Given the description of an element on the screen output the (x, y) to click on. 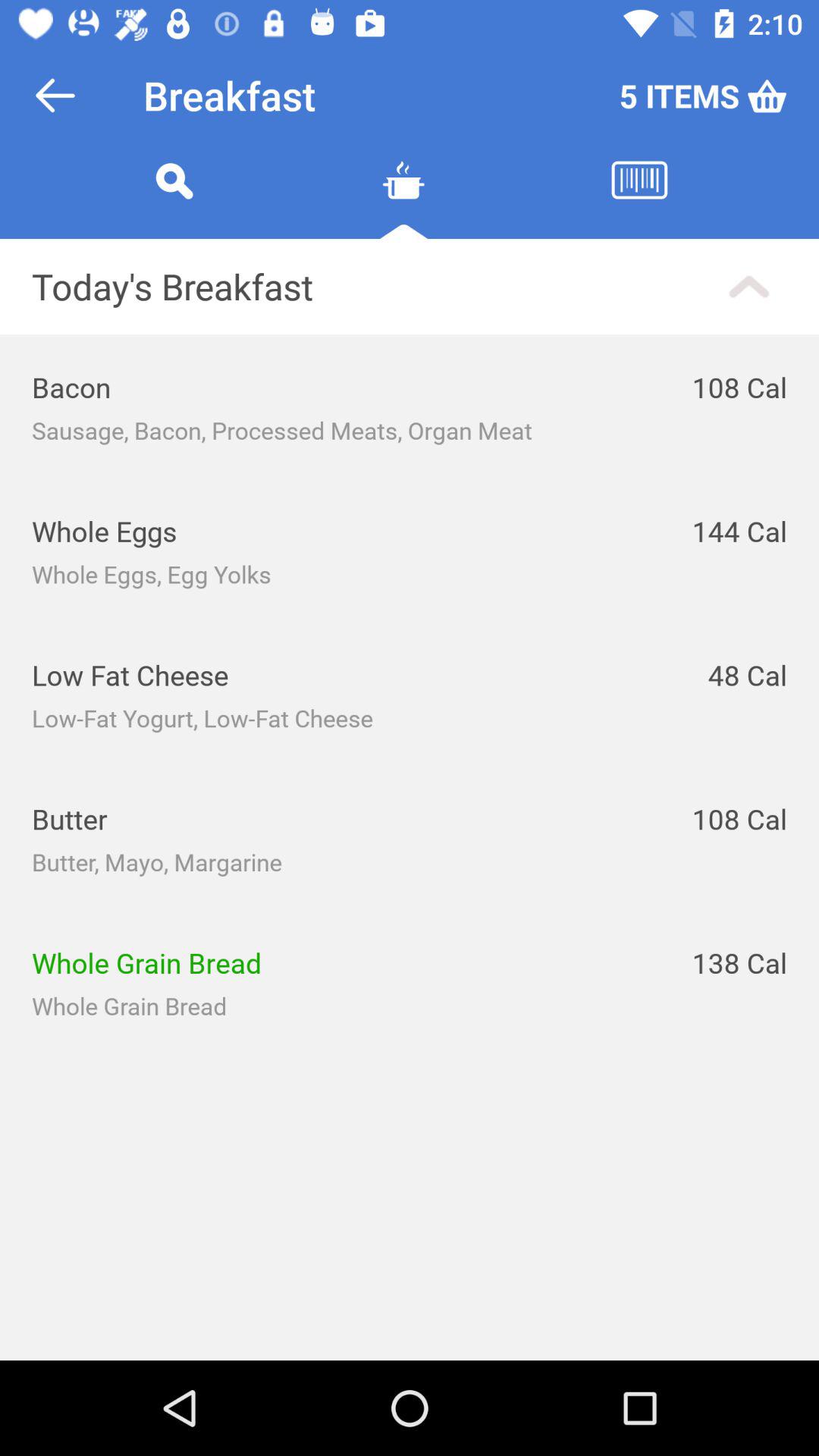
food list (403, 198)
